Given the description of an element on the screen output the (x, y) to click on. 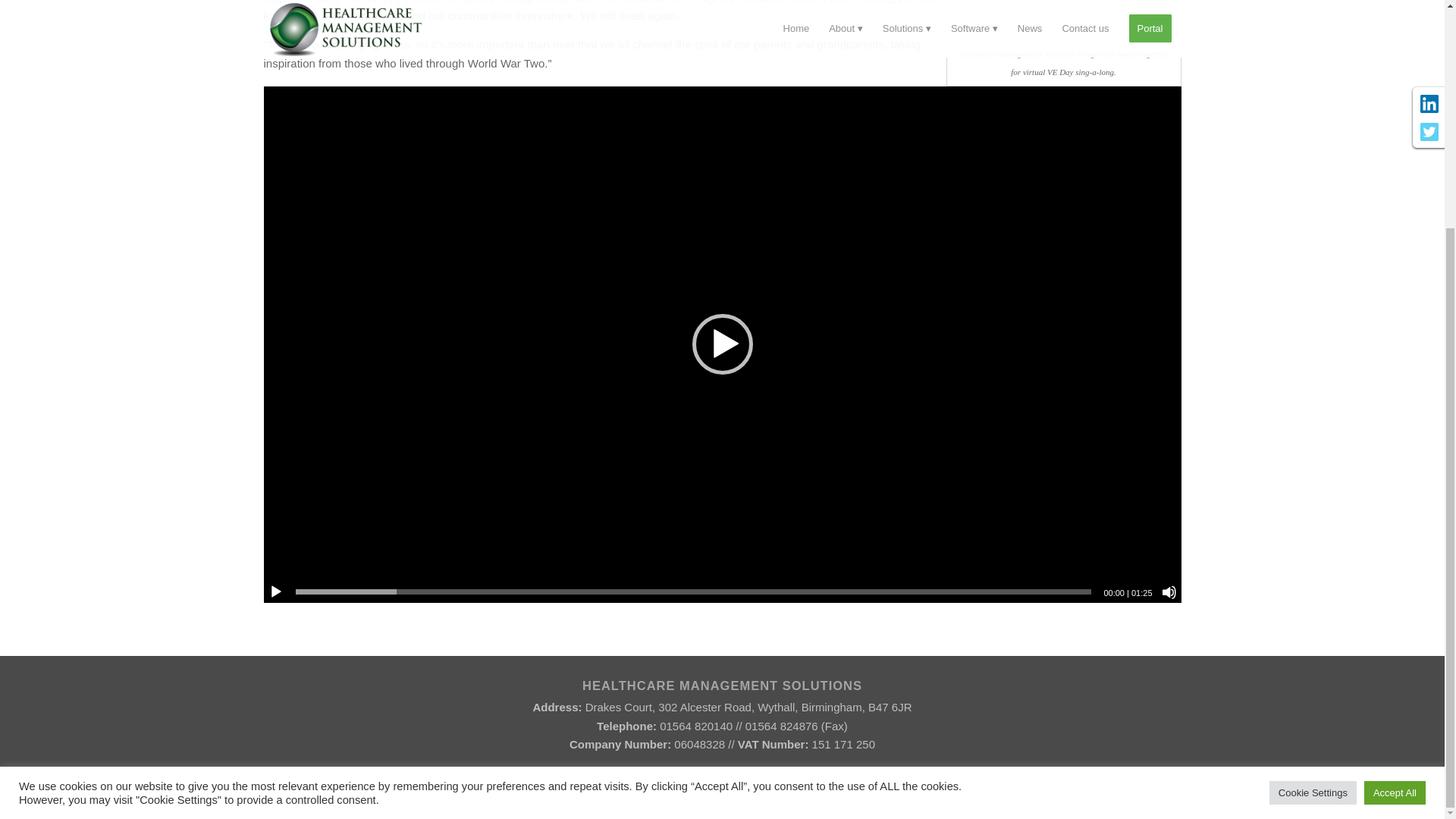
Privacy Policy (835, 797)
Mute (1168, 591)
Play (275, 591)
